Given the description of an element on the screen output the (x, y) to click on. 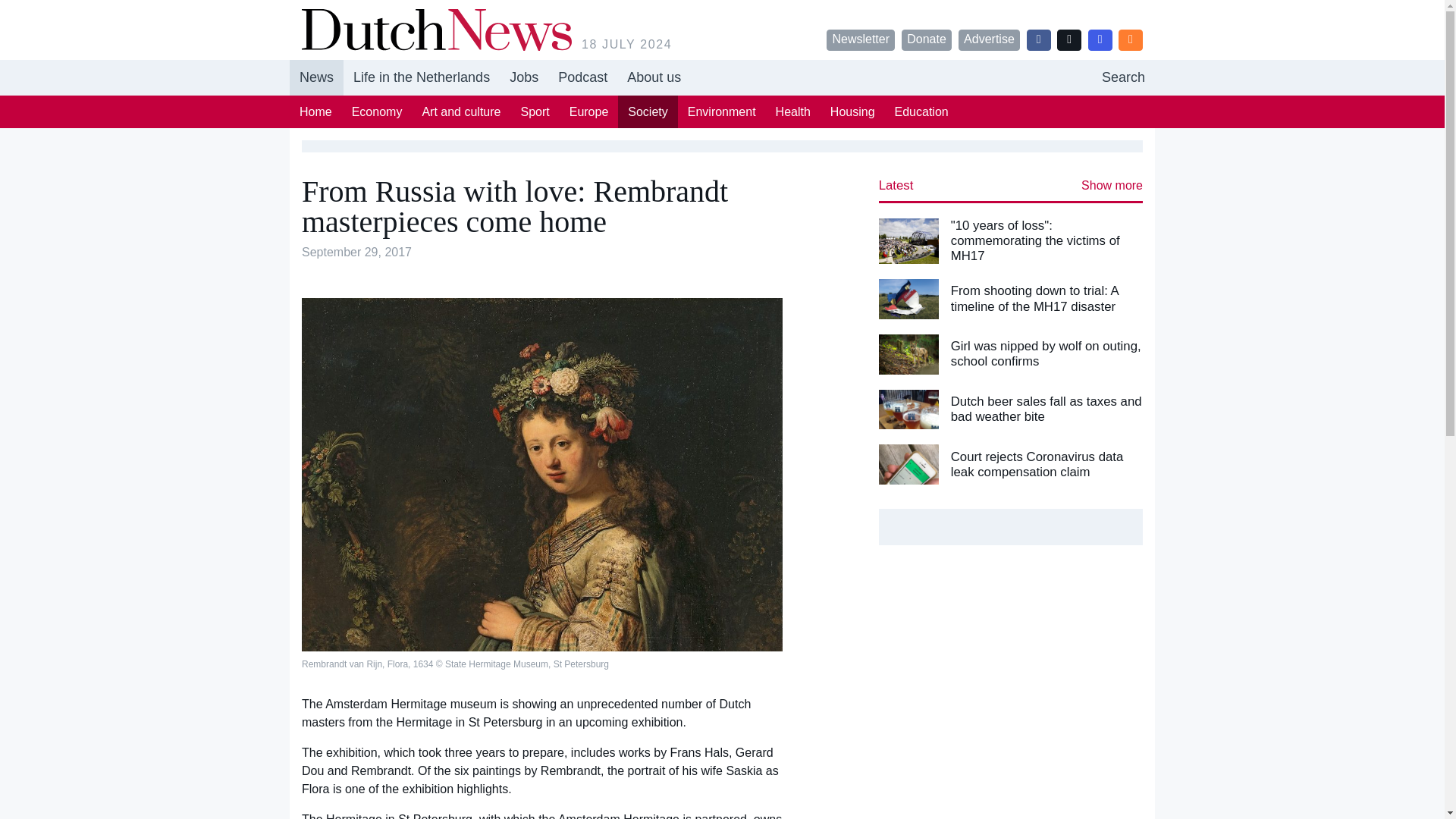
Economy (377, 111)
Sport (535, 111)
Europe (588, 111)
hidden-in-footer (582, 77)
Search (1123, 77)
Life in the Netherlands (421, 77)
About us (653, 77)
Society (647, 111)
Environment (721, 111)
Jobs (523, 77)
hidden-in-footer (1123, 77)
Education (921, 111)
News (316, 77)
Newsletter (861, 39)
